Given the description of an element on the screen output the (x, y) to click on. 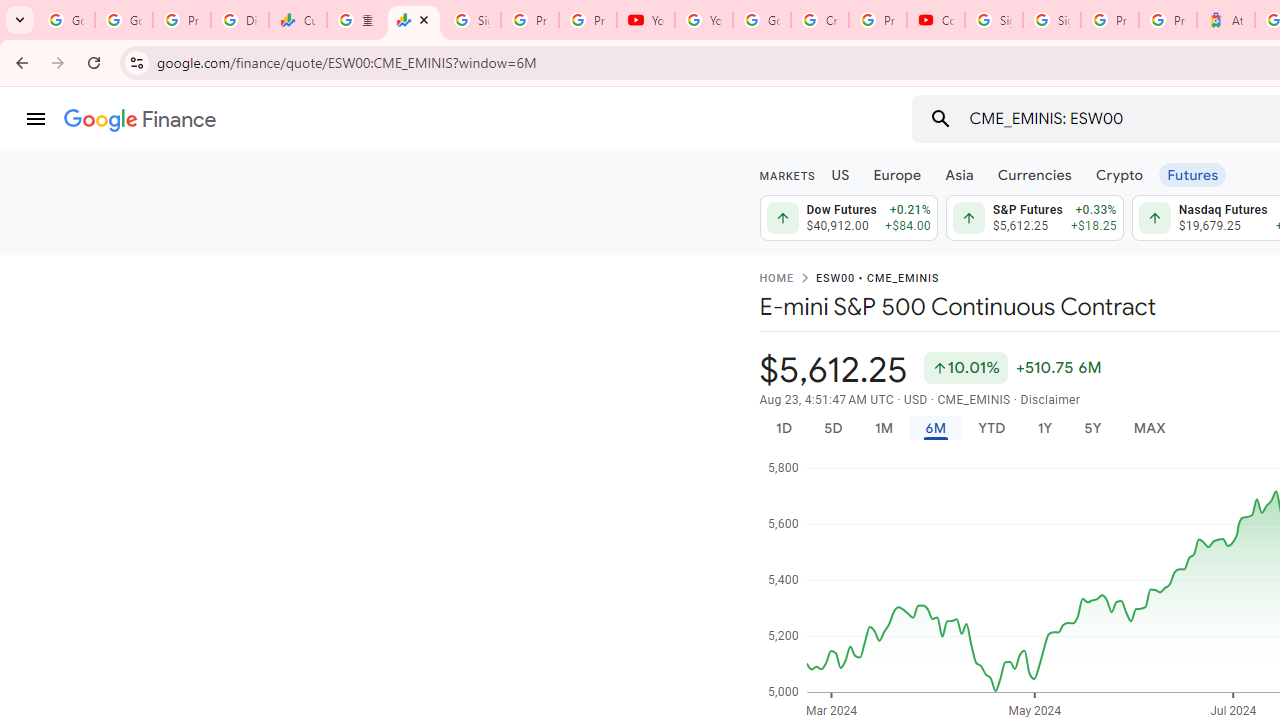
1M (882, 427)
YTD (991, 427)
